Given the description of an element on the screen output the (x, y) to click on. 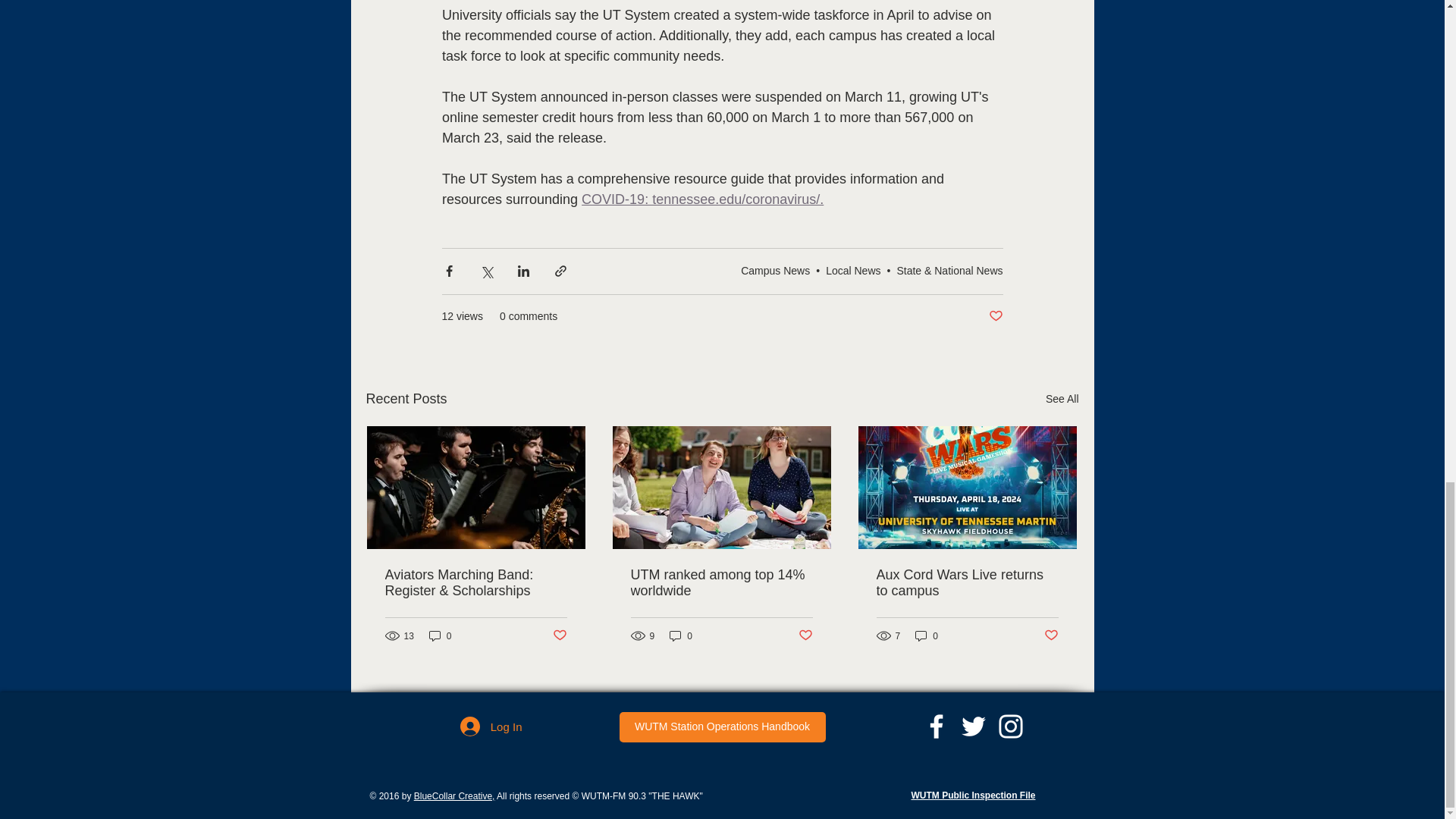
Campus News (775, 270)
Local News (852, 270)
